Given the description of an element on the screen output the (x, y) to click on. 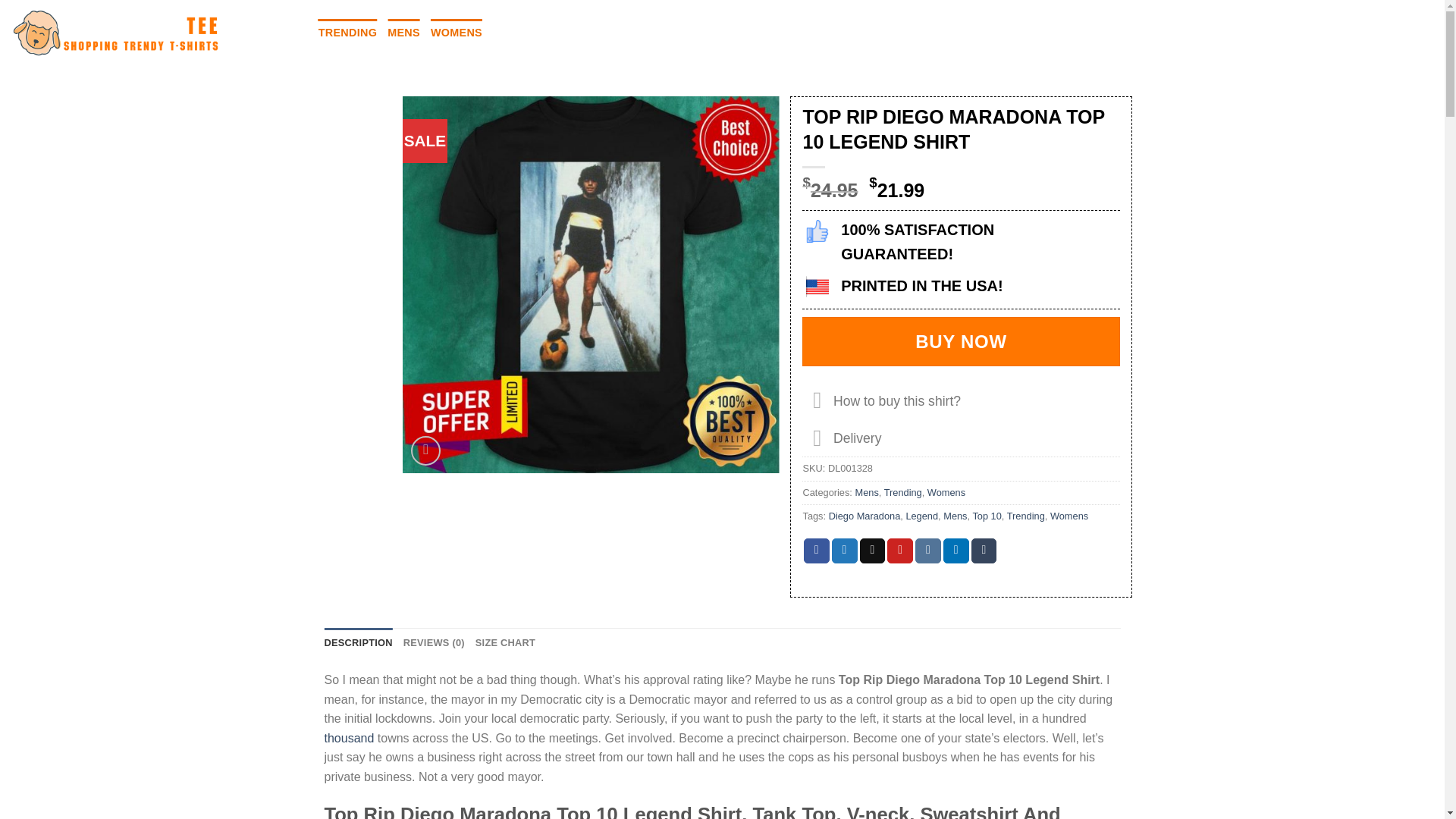
Share on VKontakte (927, 551)
Share on Twitter (844, 551)
Share on LinkedIn (956, 551)
Share on Facebook (816, 551)
MENS (403, 31)
WOMENS (455, 31)
Search (1350, 32)
Zoom (425, 450)
HOME (290, 31)
